Given the description of an element on the screen output the (x, y) to click on. 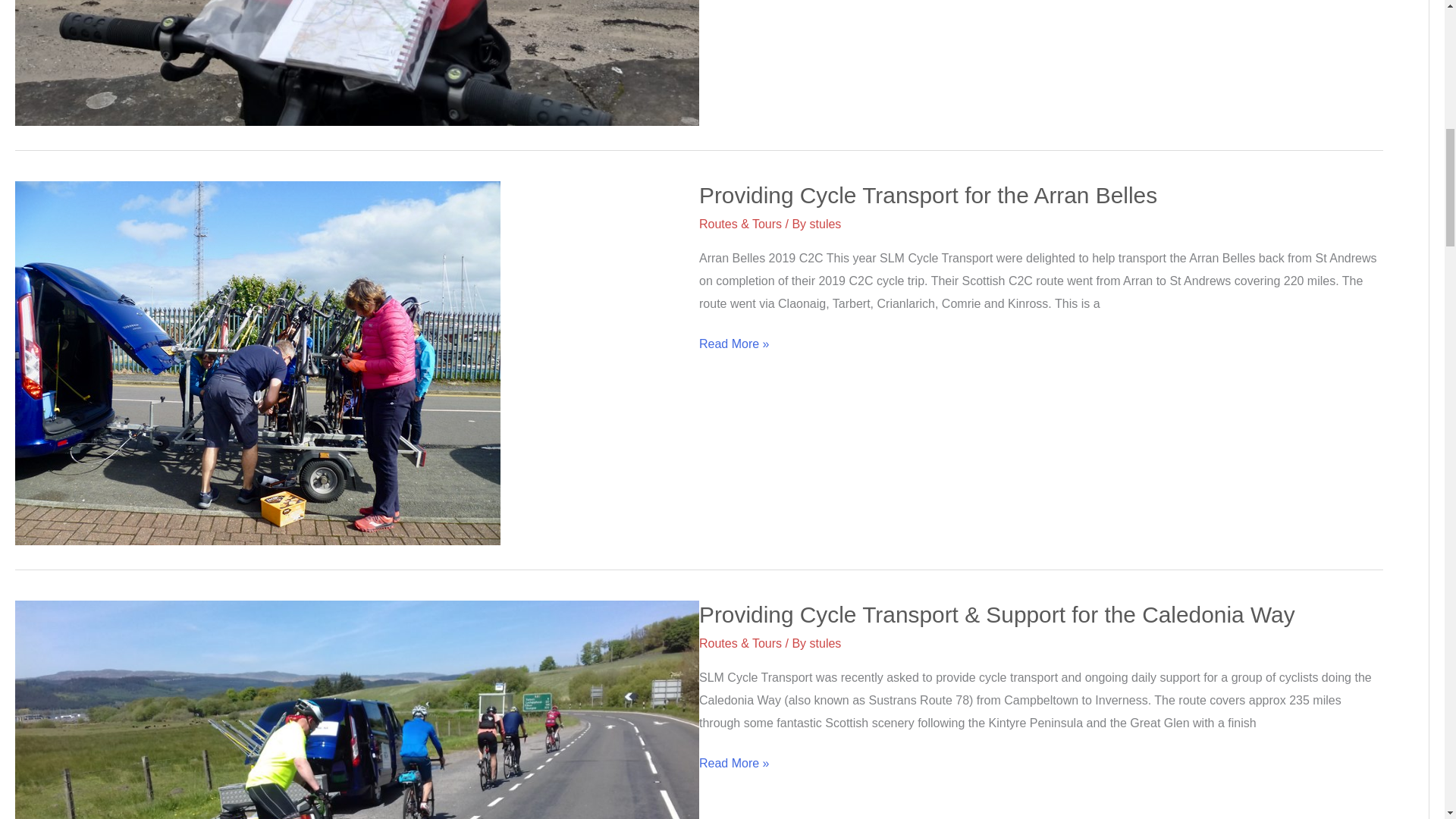
View all posts by stules (825, 643)
stules (825, 643)
stules (825, 223)
View all posts by stules (825, 223)
Providing Cycle Transport for the Arran Belles (927, 195)
